Given the description of an element on the screen output the (x, y) to click on. 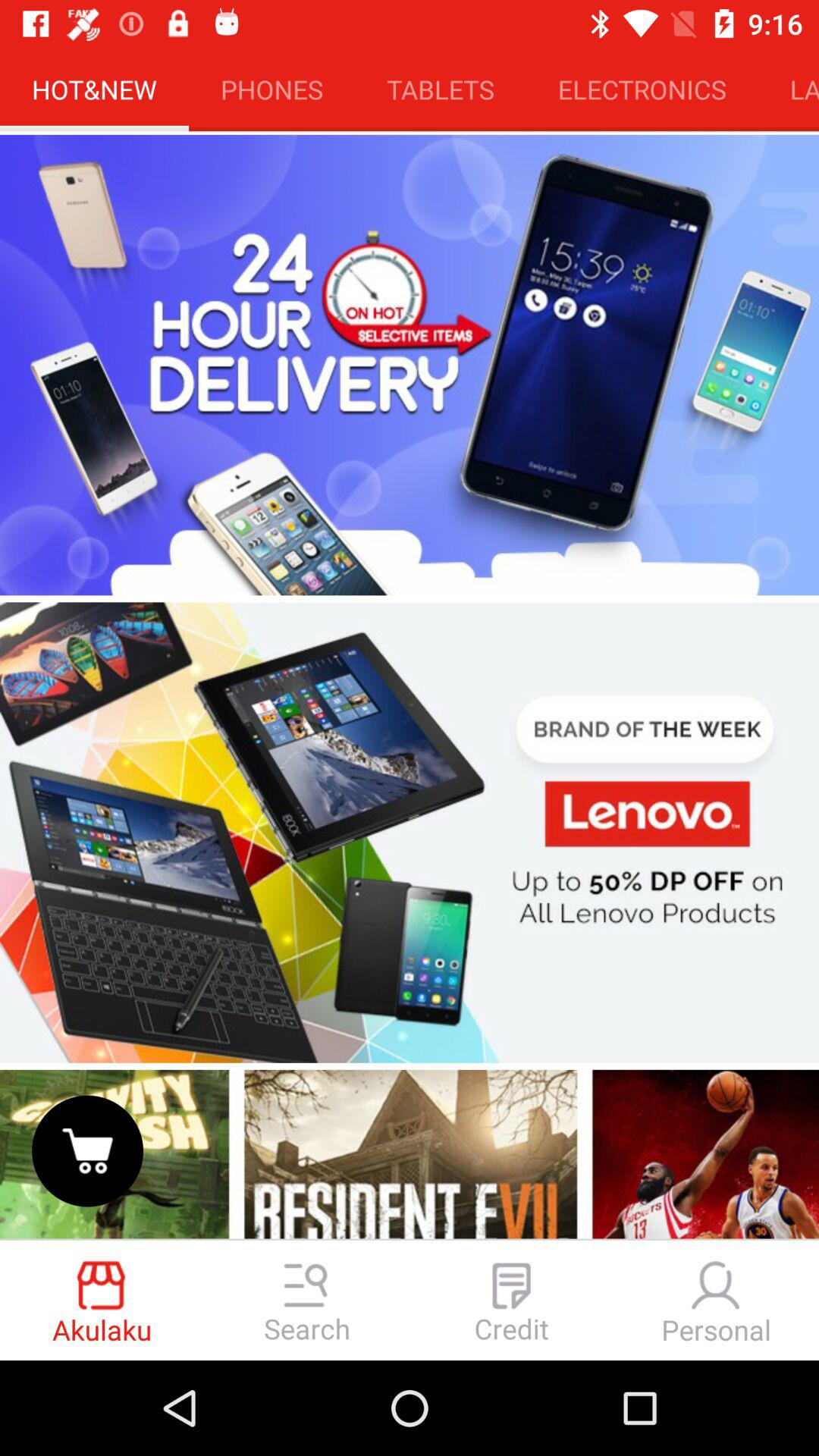
24 hour delivery (409, 364)
